Given the description of an element on the screen output the (x, y) to click on. 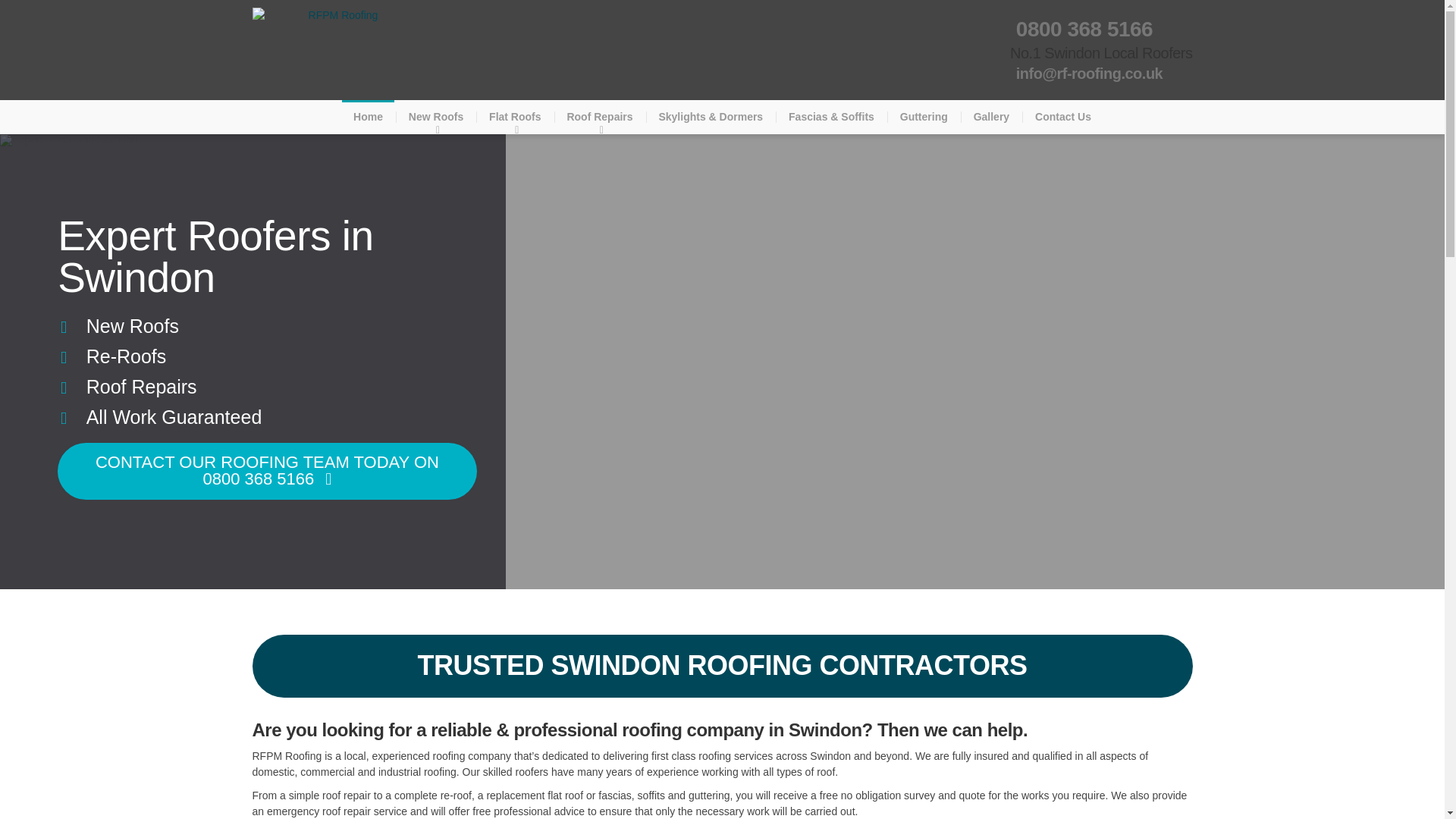
Home (368, 116)
New Roofs (435, 116)
0800 368 5166 (1081, 28)
Gallery (991, 116)
Roof Repairs (598, 116)
Contact Us (1062, 116)
Flat Roofs (514, 116)
Guttering (923, 116)
